Given the description of an element on the screen output the (x, y) to click on. 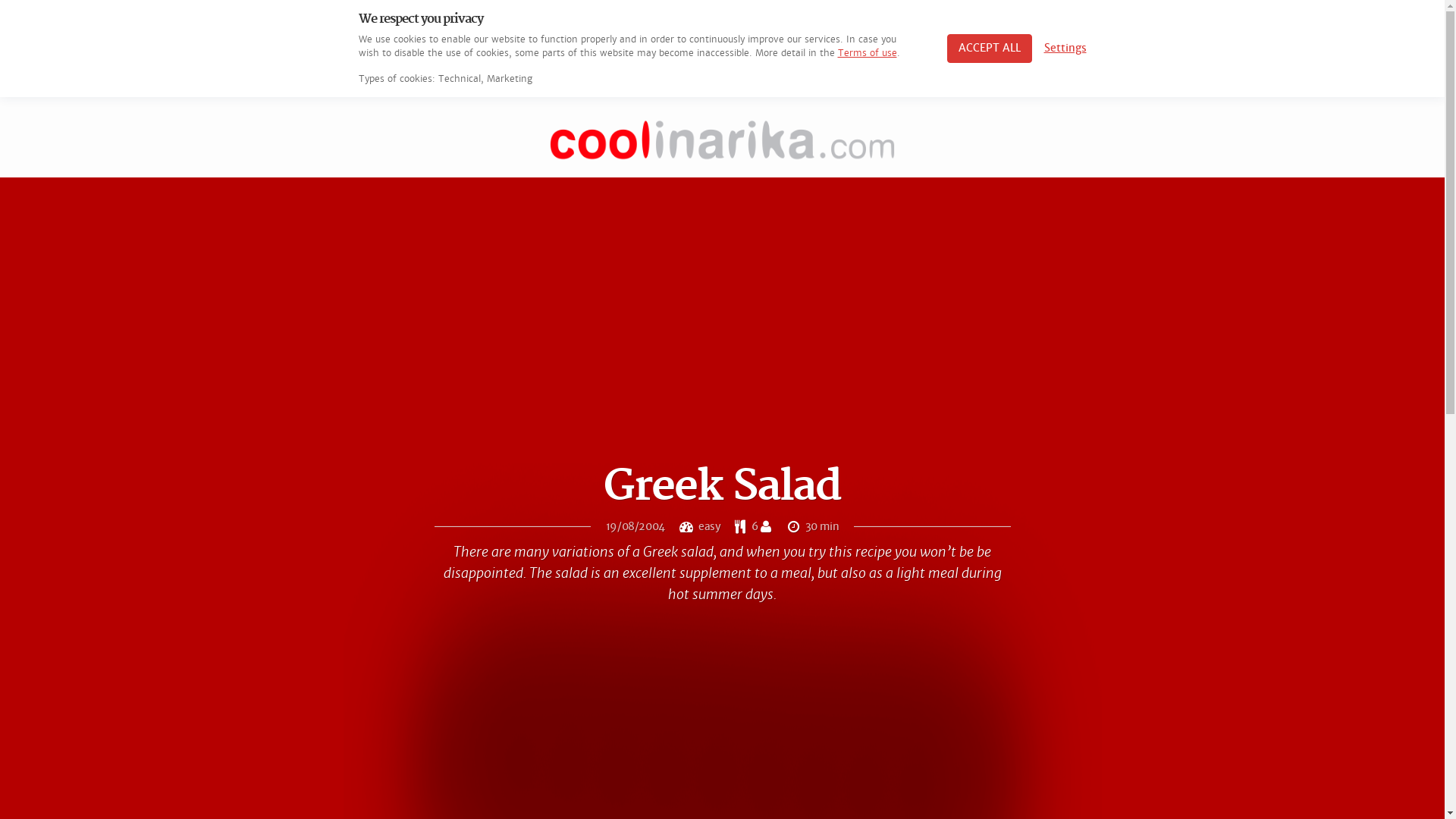
Terms of use Element type: text (866, 53)
Settings Element type: text (1064, 48)
ACCEPT ALL Element type: text (988, 48)
